Given the description of an element on the screen output the (x, y) to click on. 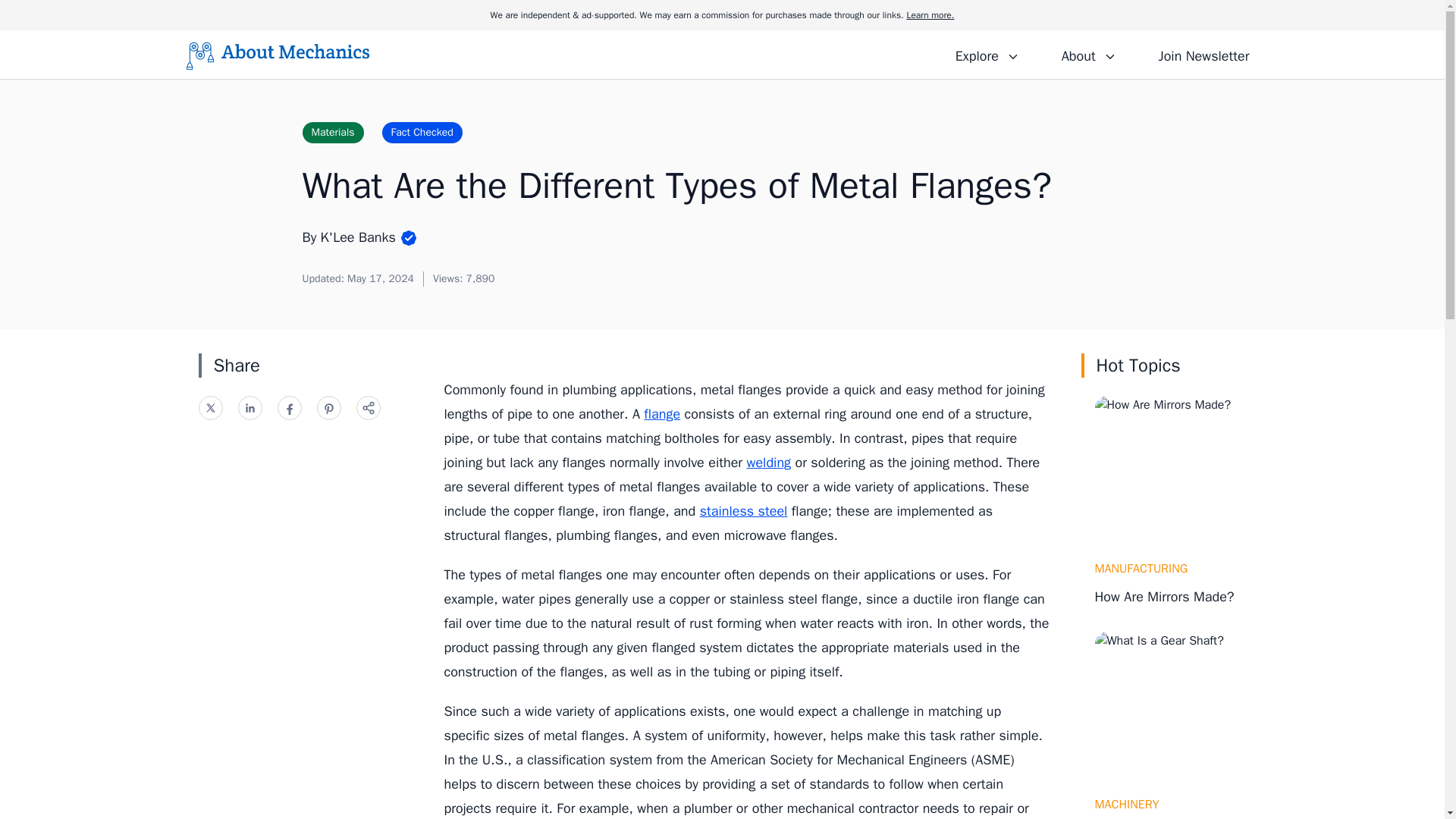
Learn more. (929, 15)
Join Newsletter (1202, 54)
About (1088, 54)
Fact Checked (422, 132)
Materials (331, 132)
Explore (986, 54)
